Given the description of an element on the screen output the (x, y) to click on. 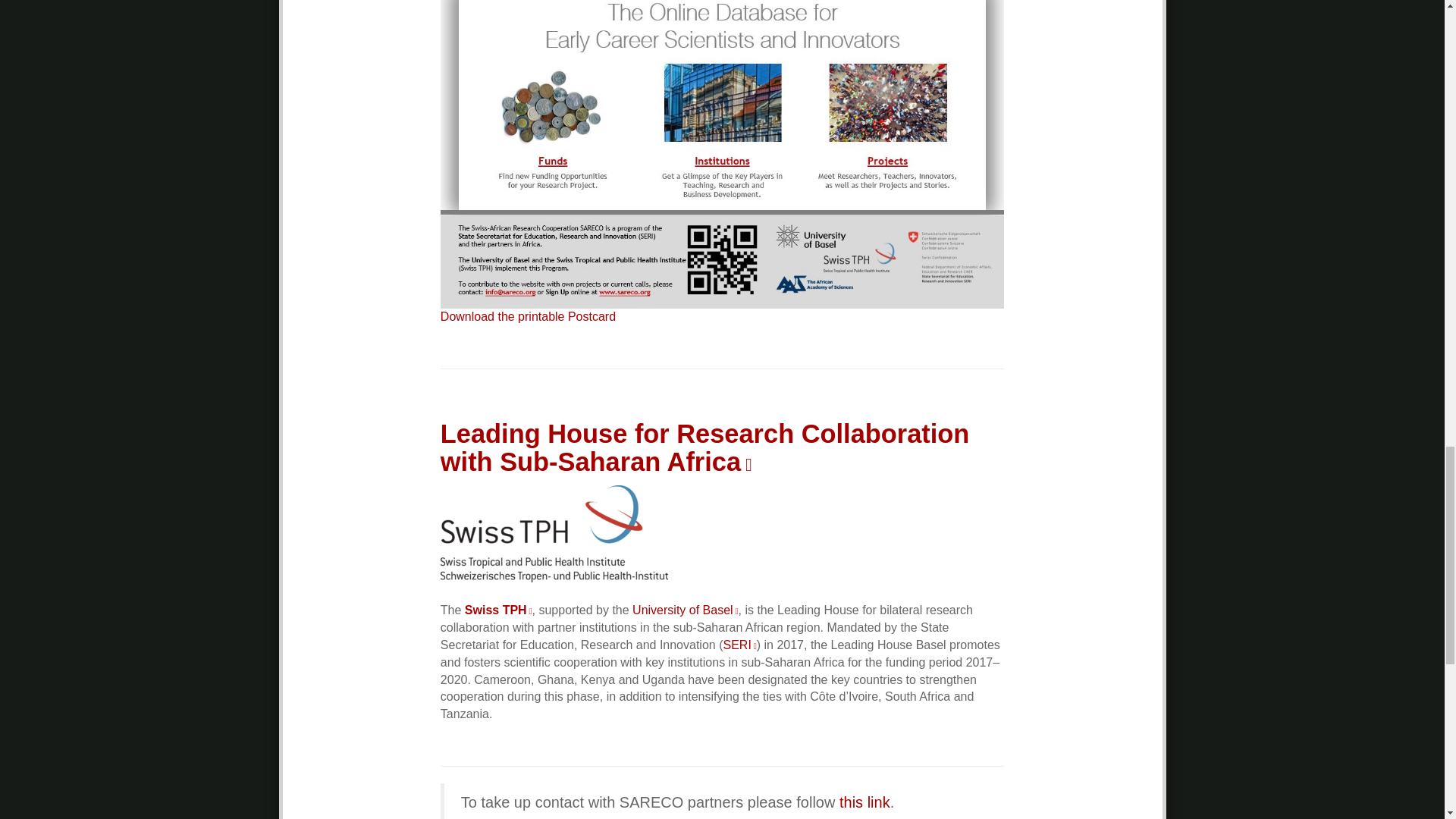
Opens external link in new window (738, 644)
